Given the description of an element on the screen output the (x, y) to click on. 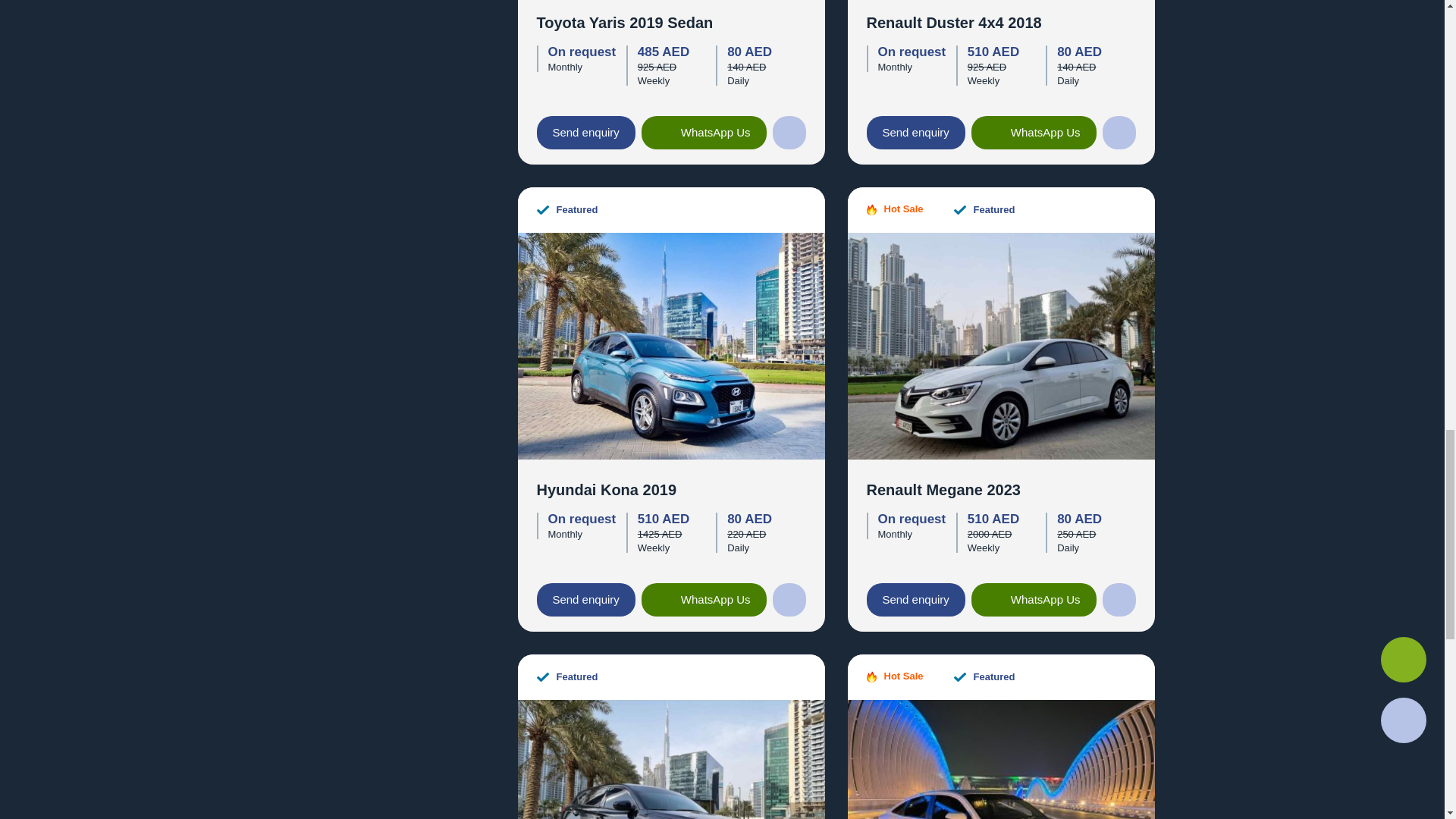
Toyota Yaris 2023 (1000, 757)
Renault Megane 2023 (1000, 344)
Hyundai Kona 2019 (670, 344)
Hyundai Tucson 2020 (670, 757)
